Given the description of an element on the screen output the (x, y) to click on. 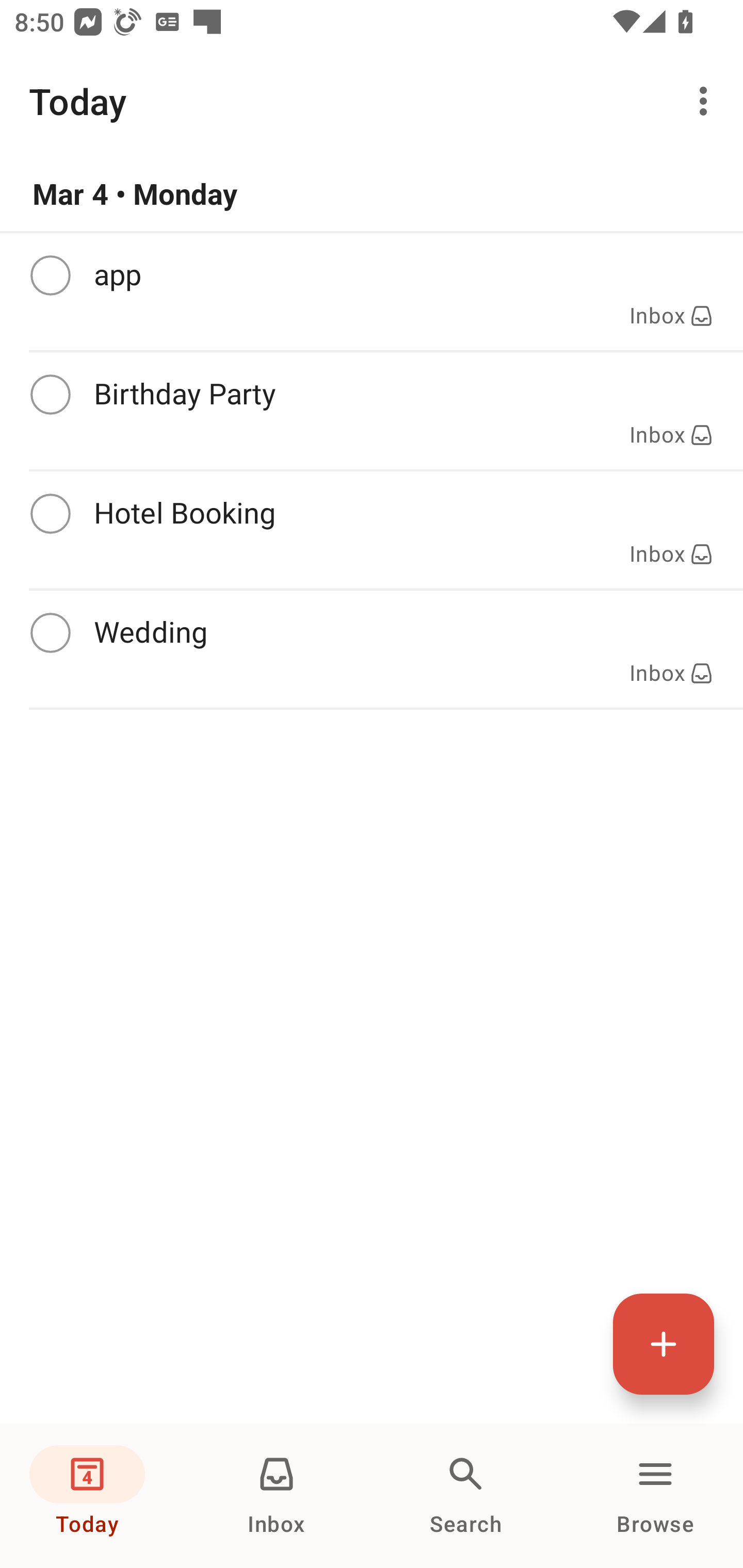
Today More options (371, 100)
More options (706, 101)
Mar 4 • Monday (371, 194)
Complete app Inbox (371, 291)
Complete (50, 275)
Complete Birthday Party Inbox (371, 410)
Complete (50, 395)
Complete Hotel Booking Inbox (371, 529)
Complete (50, 514)
Complete Wedding Inbox (371, 649)
Complete (50, 633)
Quick add (663, 1343)
Inbox (276, 1495)
Search (465, 1495)
Browse (655, 1495)
